Given the description of an element on the screen output the (x, y) to click on. 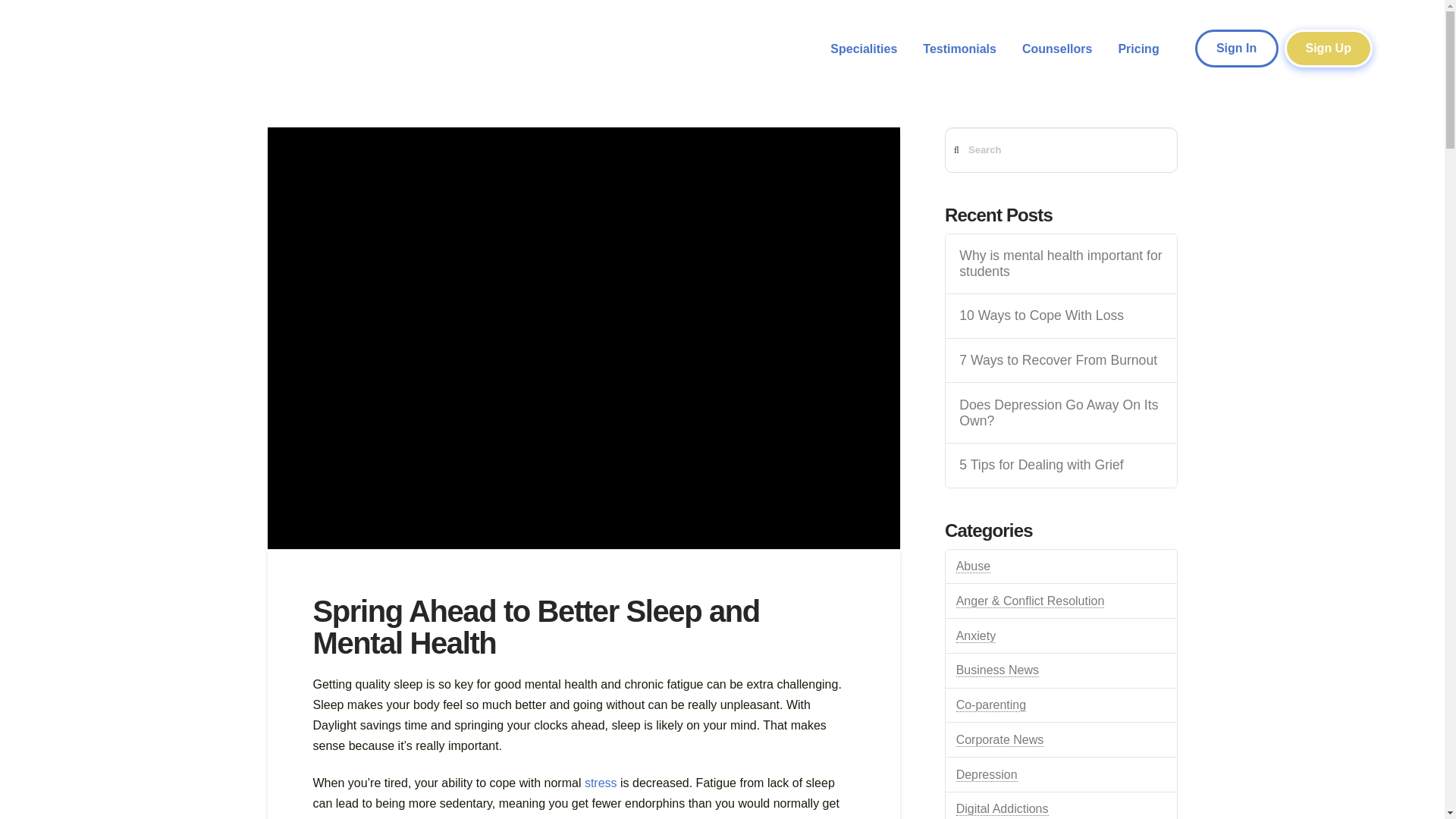
Sign In (1236, 48)
Pricing (1138, 48)
Abuse (973, 566)
Digital Addictions (1002, 808)
7 Ways to Recover From Burnout (1060, 360)
Sign Up (1328, 48)
stress (601, 782)
Testimonials (959, 48)
Business News (997, 670)
10 Ways to Cope With Loss (1060, 315)
